Given the description of an element on the screen output the (x, y) to click on. 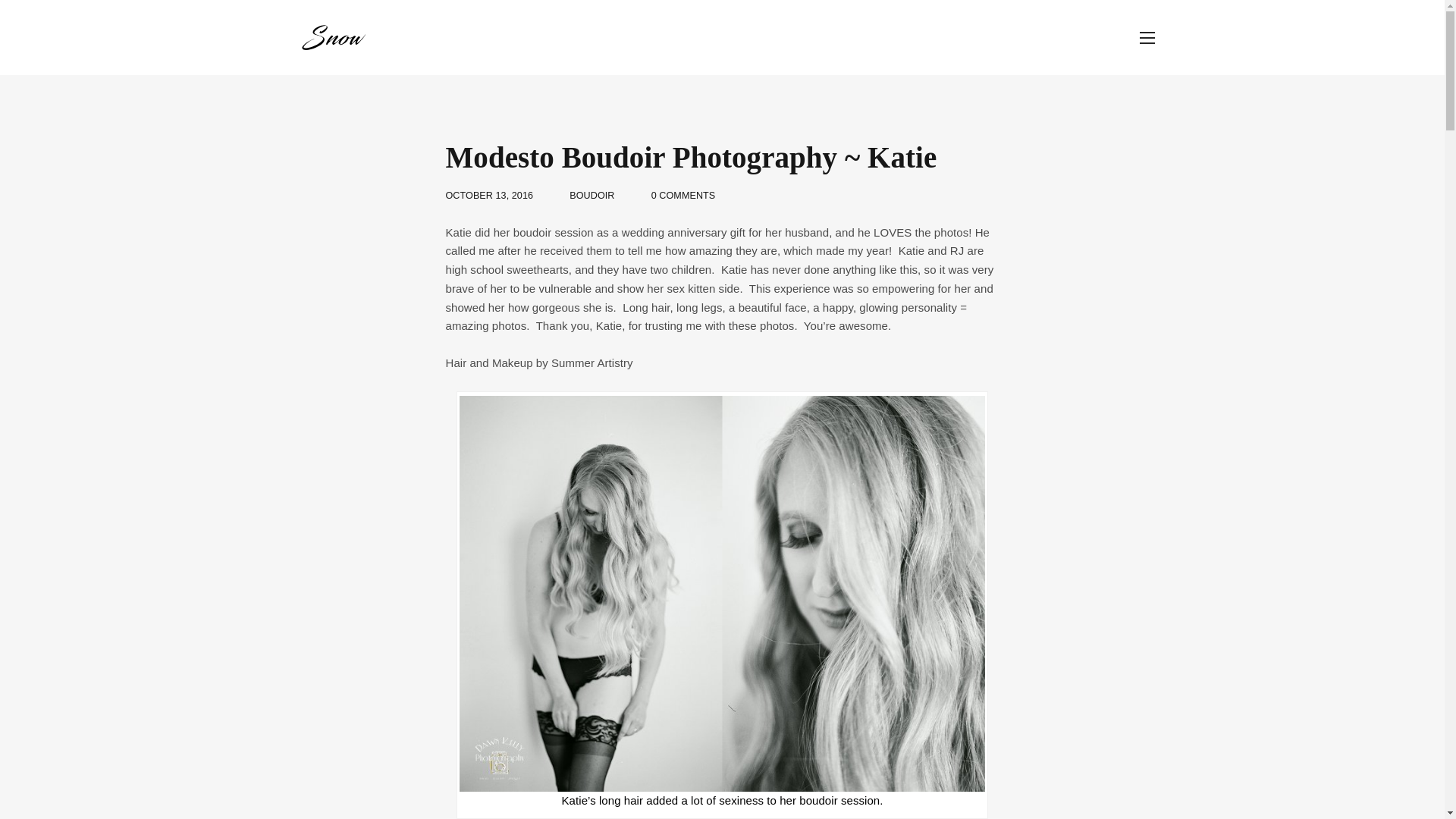
BOUDOIR (591, 195)
